Given the description of an element on the screen output the (x, y) to click on. 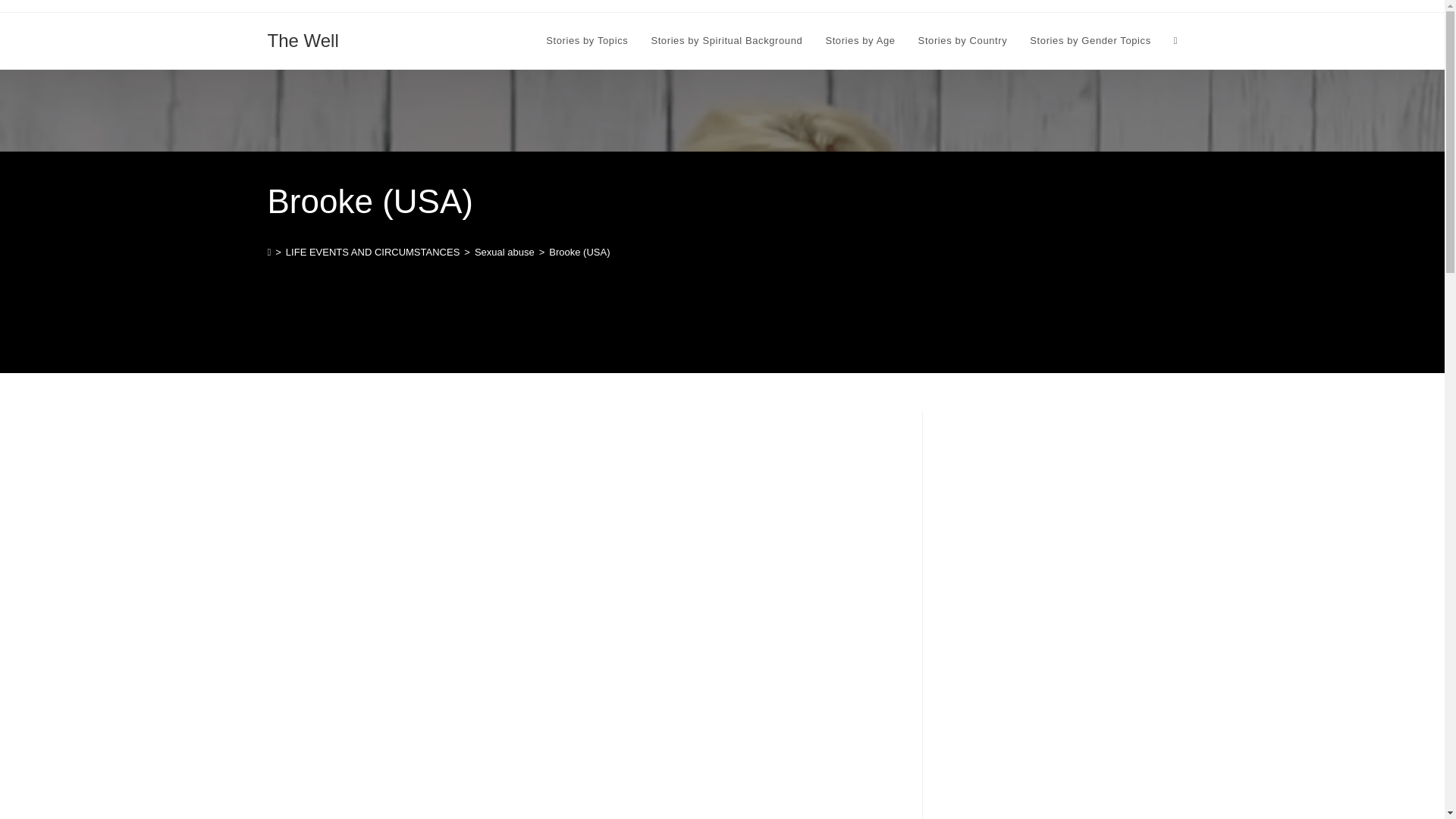
Sexual abuse (504, 251)
Stories by Age (859, 40)
Stories by Gender Topics (1089, 40)
LIFE EVENTS AND CIRCUMSTANCES (372, 251)
Stories by Country (963, 40)
Stories by Topics (586, 40)
The Well (301, 40)
Stories by Spiritual Background (726, 40)
